Given the description of an element on the screen output the (x, y) to click on. 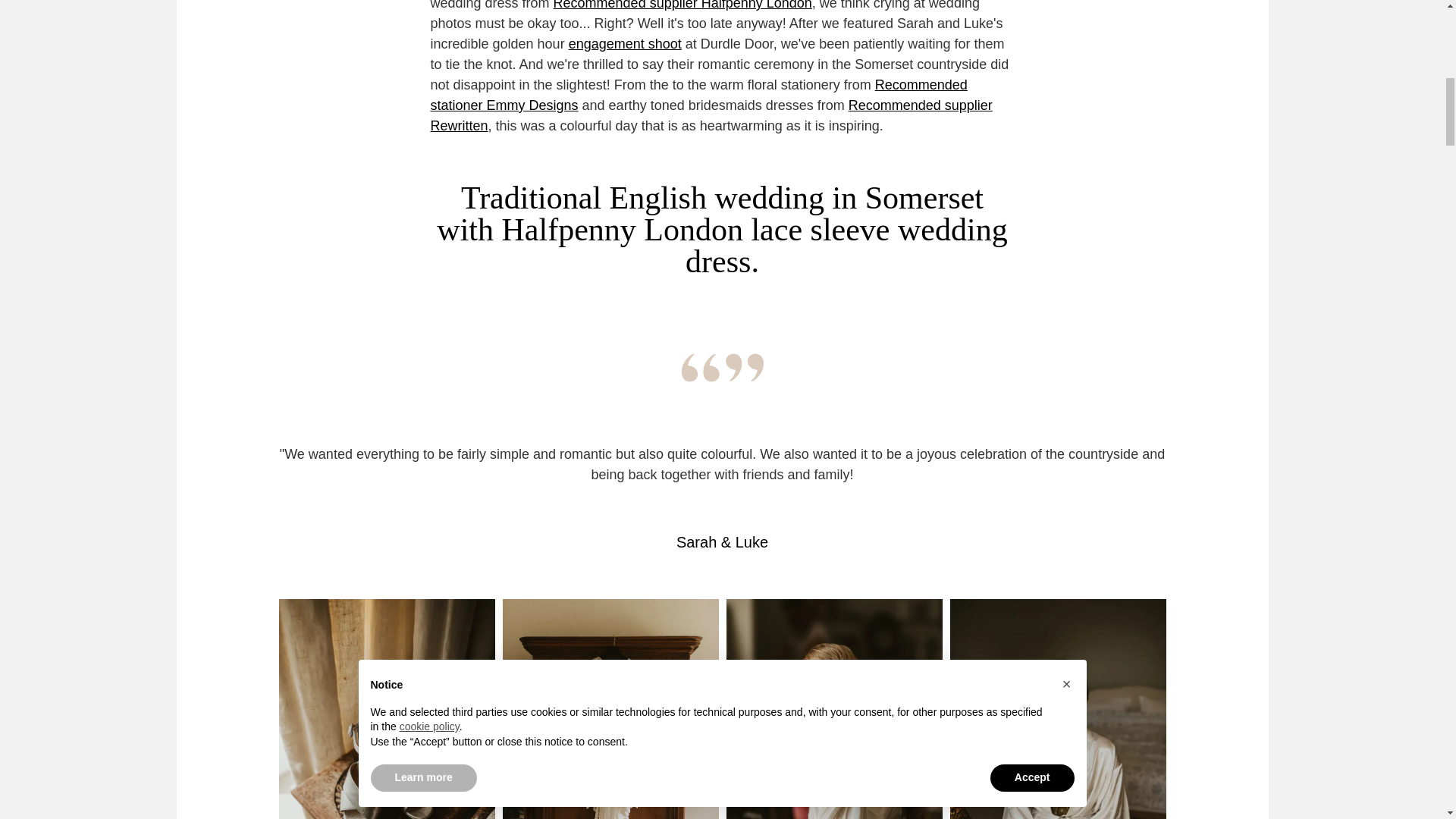
engagement shoot (625, 43)
Recommended supplier Rewritten (711, 115)
Recommended stationer Emmy Designs (699, 94)
Recommended supplier Halfpenny London (682, 5)
